Given the description of an element on the screen output the (x, y) to click on. 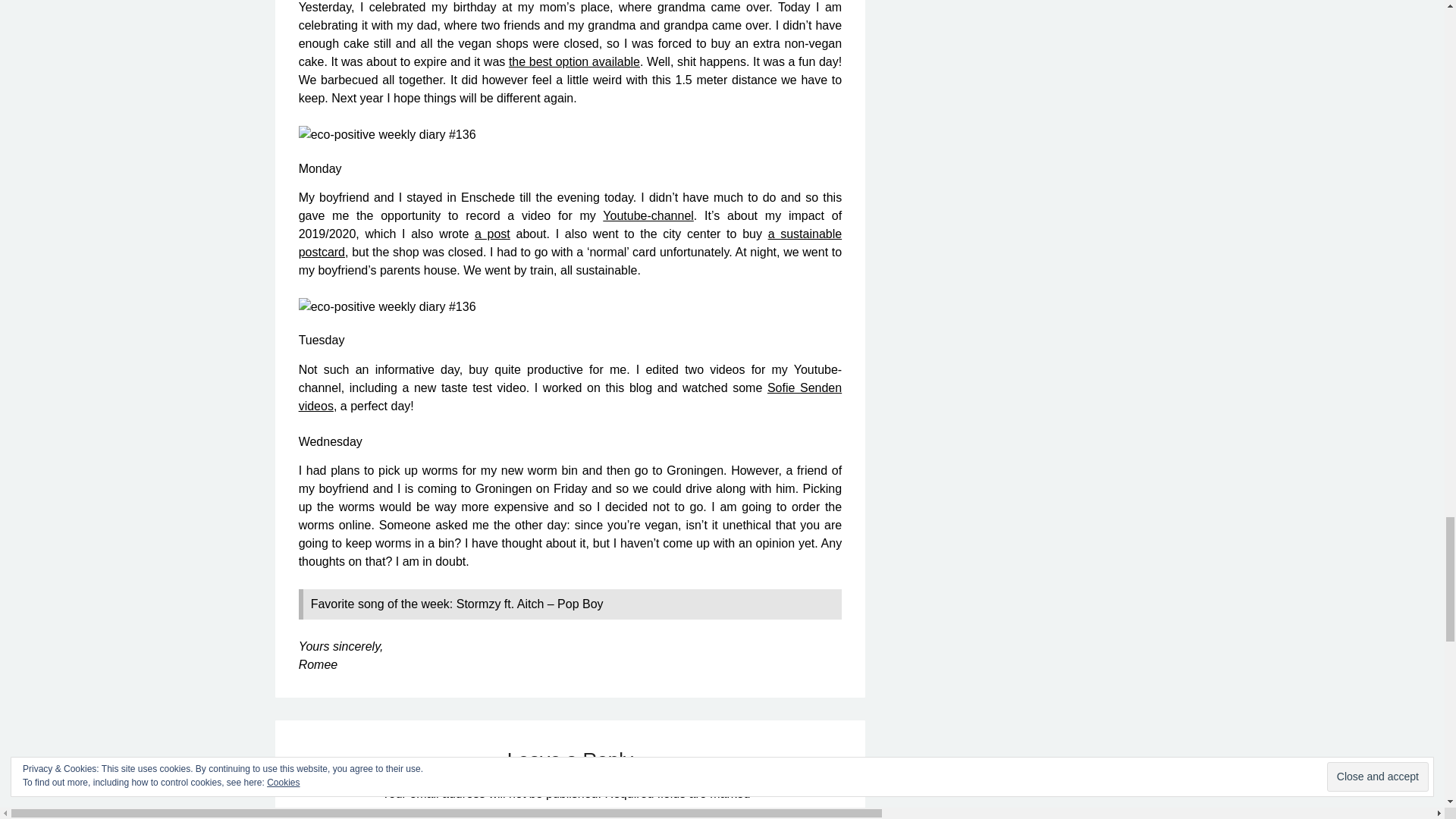
a post (492, 233)
a sustainable postcard (570, 242)
the best option available (574, 61)
Youtube-channel (648, 215)
Sofie Senden videos (570, 396)
